Given the description of an element on the screen output the (x, y) to click on. 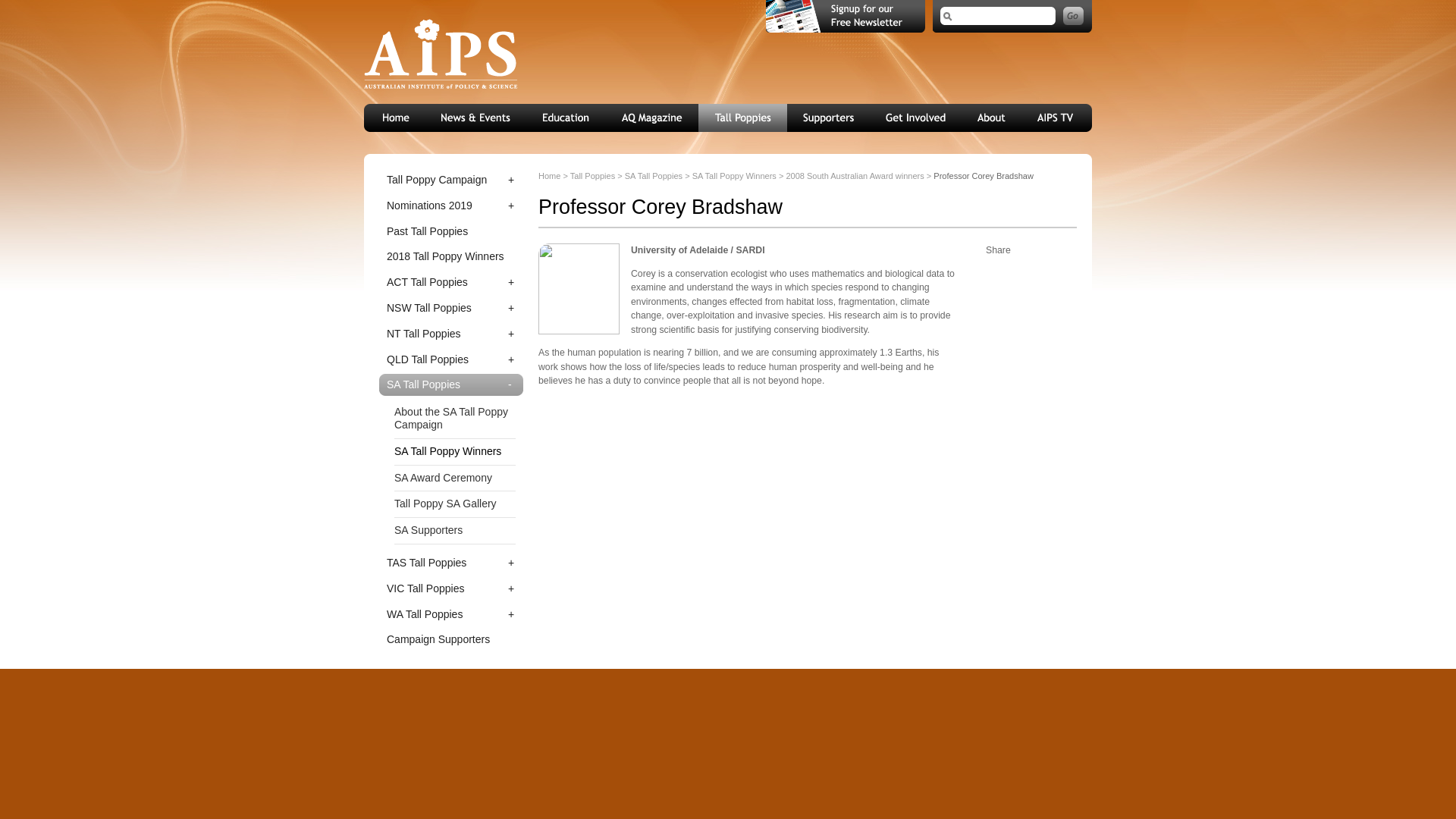
GO (1072, 15)
2018 Tall Poppy Winners (450, 256)
AQ Magazine (651, 117)
Get Involved (916, 117)
About (992, 117)
Tall Poppies (742, 117)
Signup for our Free Newsleter (844, 16)
Professor Corey Bradshaw (579, 288)
Home (395, 117)
AIPS TV (1057, 117)
Past Tall Poppies (450, 231)
Education (565, 117)
Supporters (828, 117)
